Given the description of an element on the screen output the (x, y) to click on. 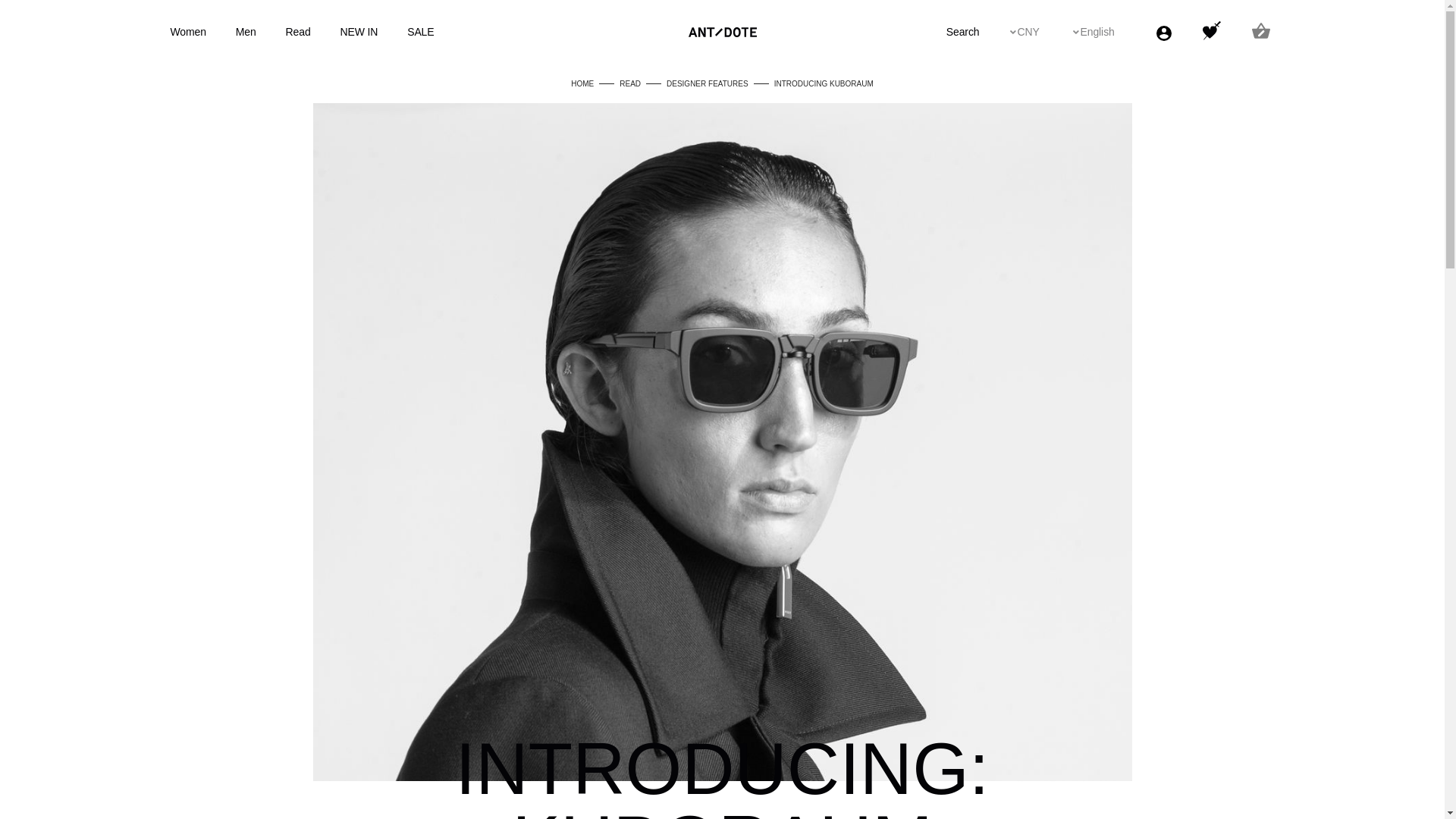
Antidote Fashion and Lifestyle (722, 31)
NEW IN (358, 31)
Search (976, 31)
NEW IN (371, 31)
Read (311, 31)
Men (245, 31)
English (1112, 31)
Login (1165, 32)
Read (298, 31)
